Given the description of an element on the screen output the (x, y) to click on. 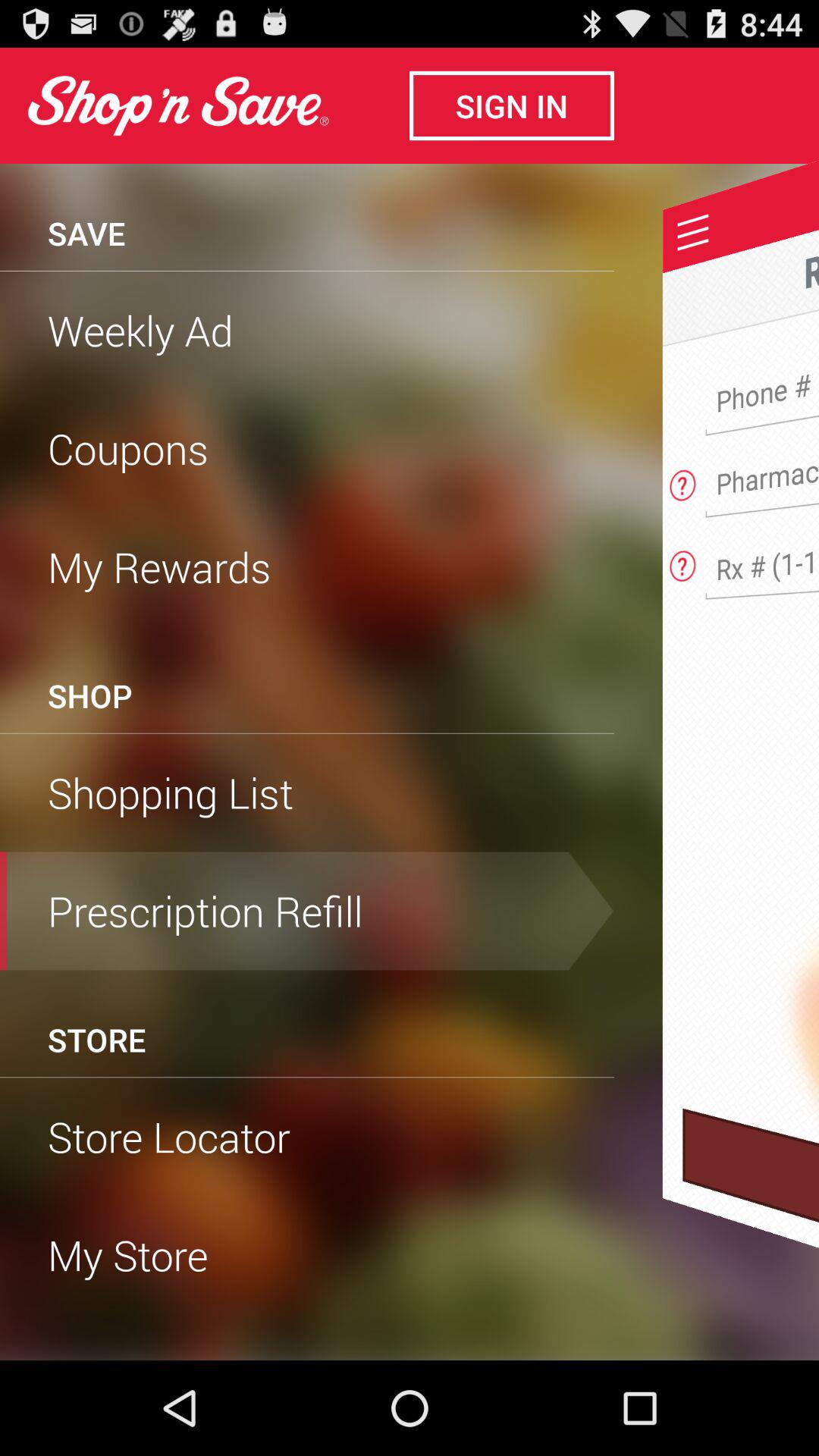
information about prescription (682, 561)
